Given the description of an element on the screen output the (x, y) to click on. 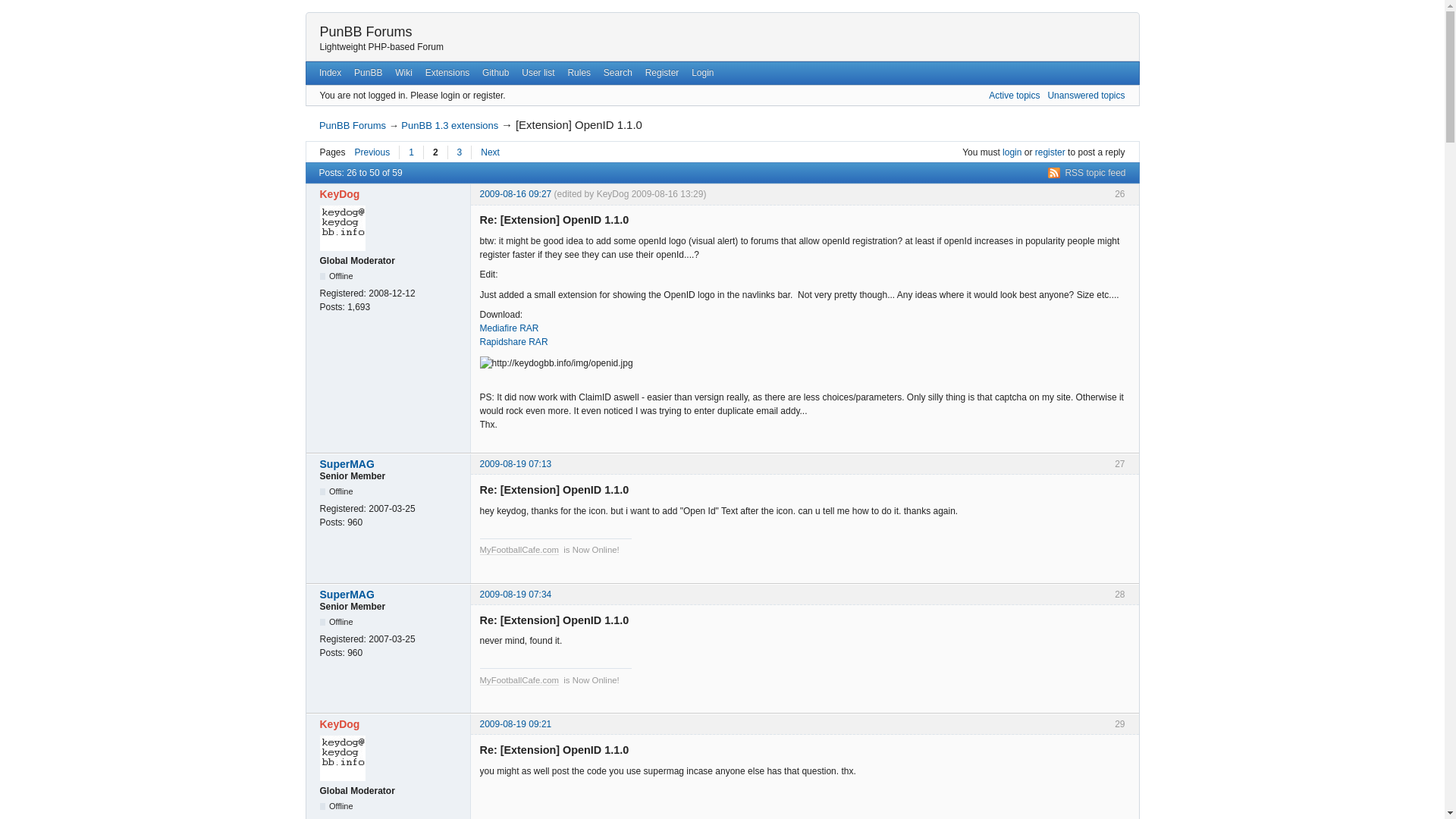
Active topics (1013, 95)
register (1050, 152)
SuperMAG (390, 463)
Permanent link to this post (515, 463)
PunBB Forums (366, 31)
Register (661, 72)
SuperMAG (390, 594)
Index (330, 72)
3 (458, 151)
PunBB (367, 72)
Next (489, 151)
PunBB Forums (351, 125)
2009-08-19 07:34 (515, 593)
Permanent link to this post (515, 593)
PunBB 1.3 extensions (449, 125)
